Given the description of an element on the screen output the (x, y) to click on. 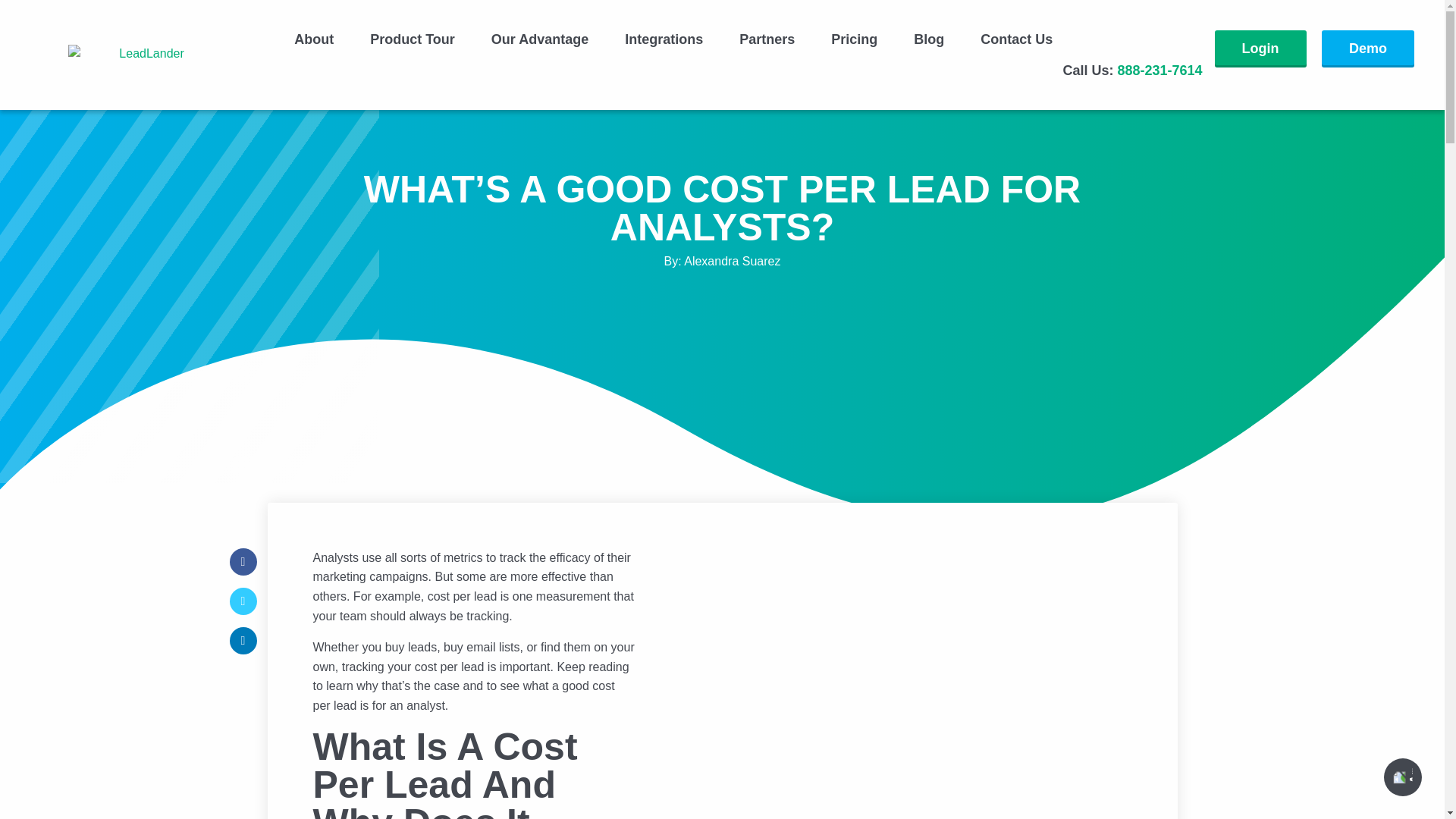
LeadLander (146, 53)
Integrations (663, 39)
Call Us: 888-231-7614 (1128, 69)
Our Advantage (540, 39)
Scroll to the top (1403, 777)
Demo (1367, 48)
Share to Twitter (242, 601)
Partners (766, 39)
Pricing (853, 39)
